Given the description of an element on the screen output the (x, y) to click on. 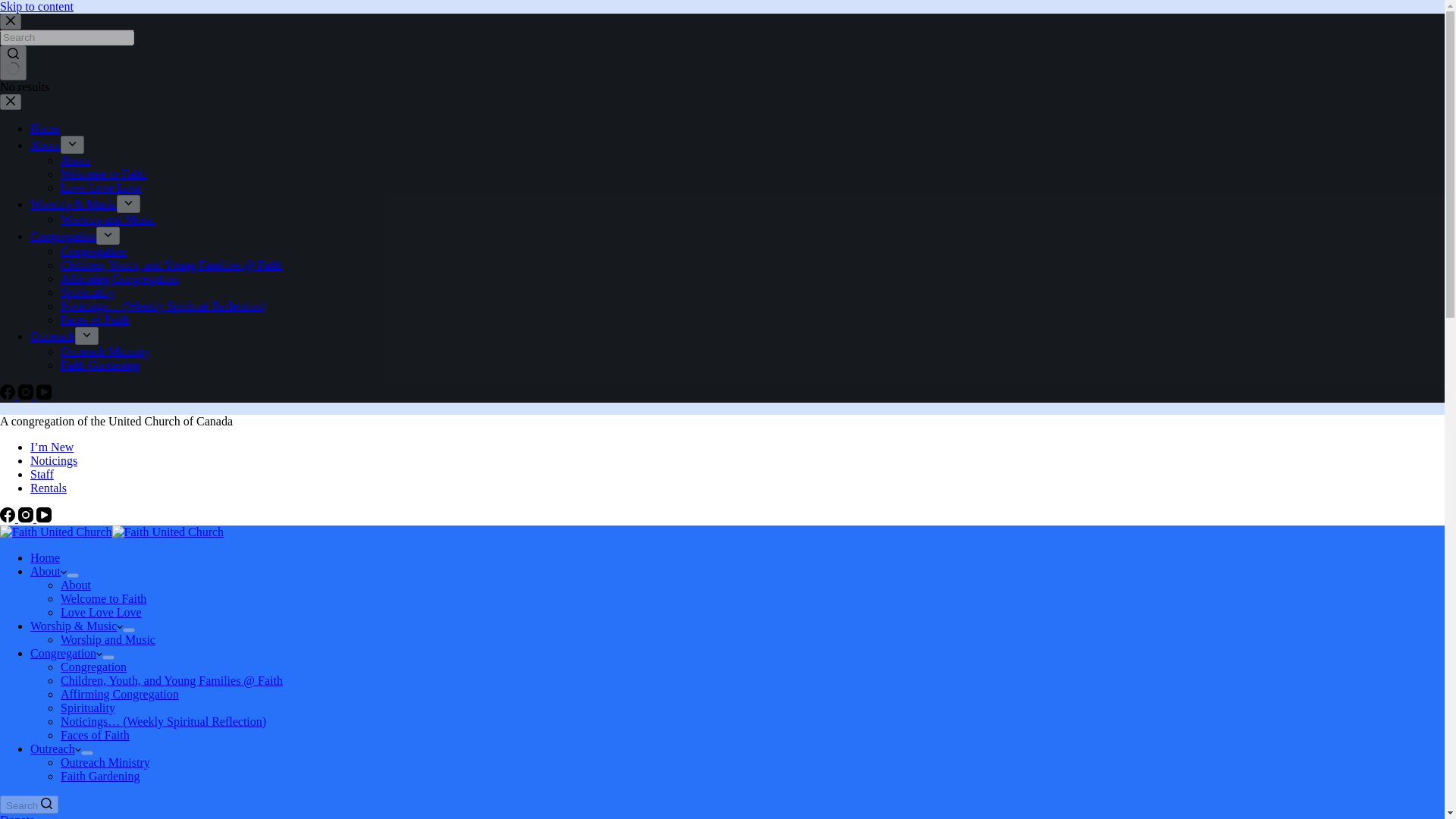
Home (44, 557)
Congregation (63, 236)
Search for... (66, 37)
Faces of Faith (95, 318)
Affirming Congregation (120, 278)
Outreach Ministry (105, 350)
About (45, 144)
Welcome to Faith (104, 173)
Home (44, 128)
About (75, 160)
Outreach (52, 336)
Faith Gardening (100, 364)
Love Love Love (101, 187)
About (48, 571)
Noticings (53, 460)
